Given the description of an element on the screen output the (x, y) to click on. 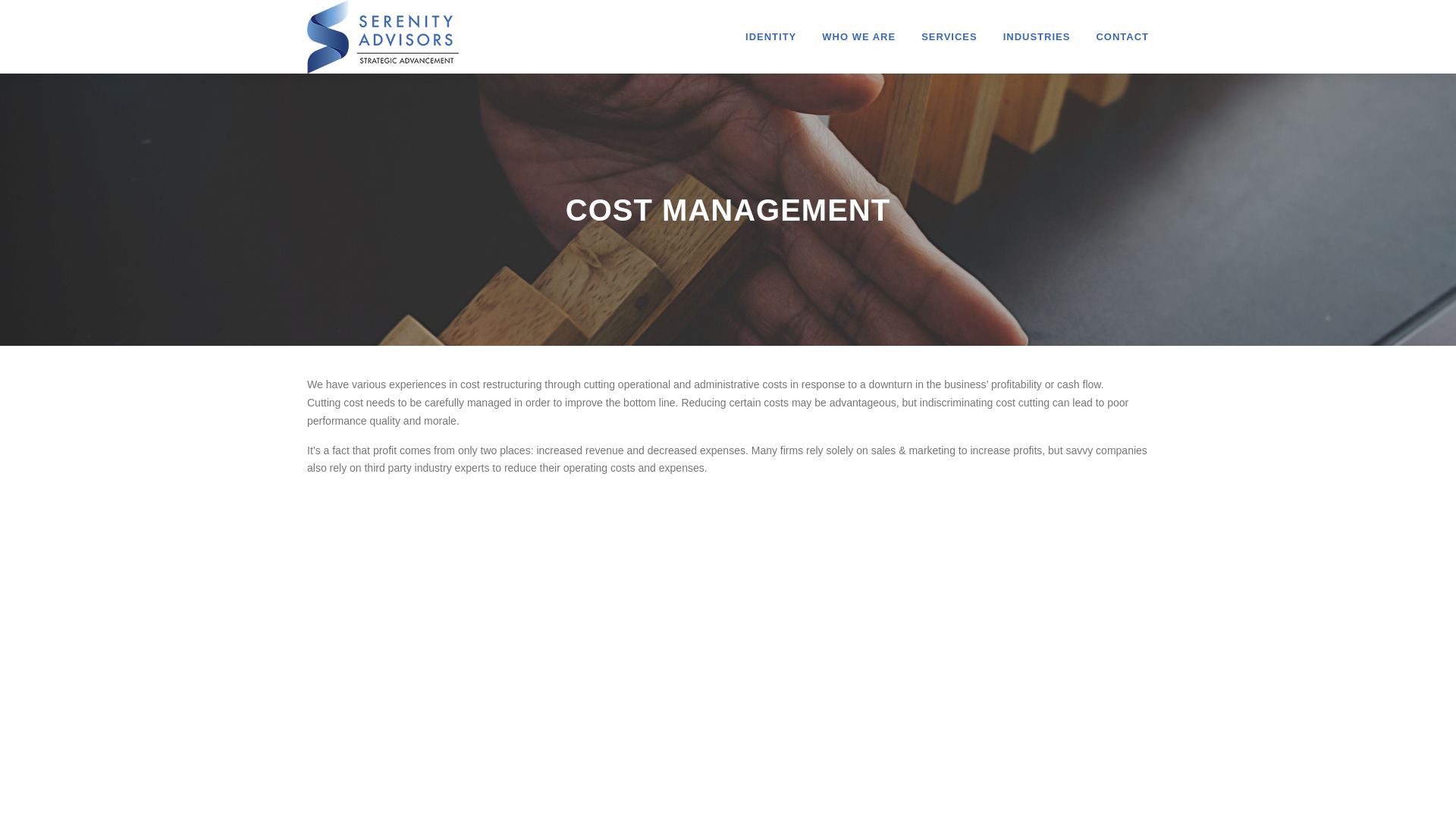
INDUSTRIES (1036, 36)
SERVICES (949, 36)
IDENTITY (770, 36)
WHO WE ARE (858, 36)
CONTACT (1115, 36)
